Given the description of an element on the screen output the (x, y) to click on. 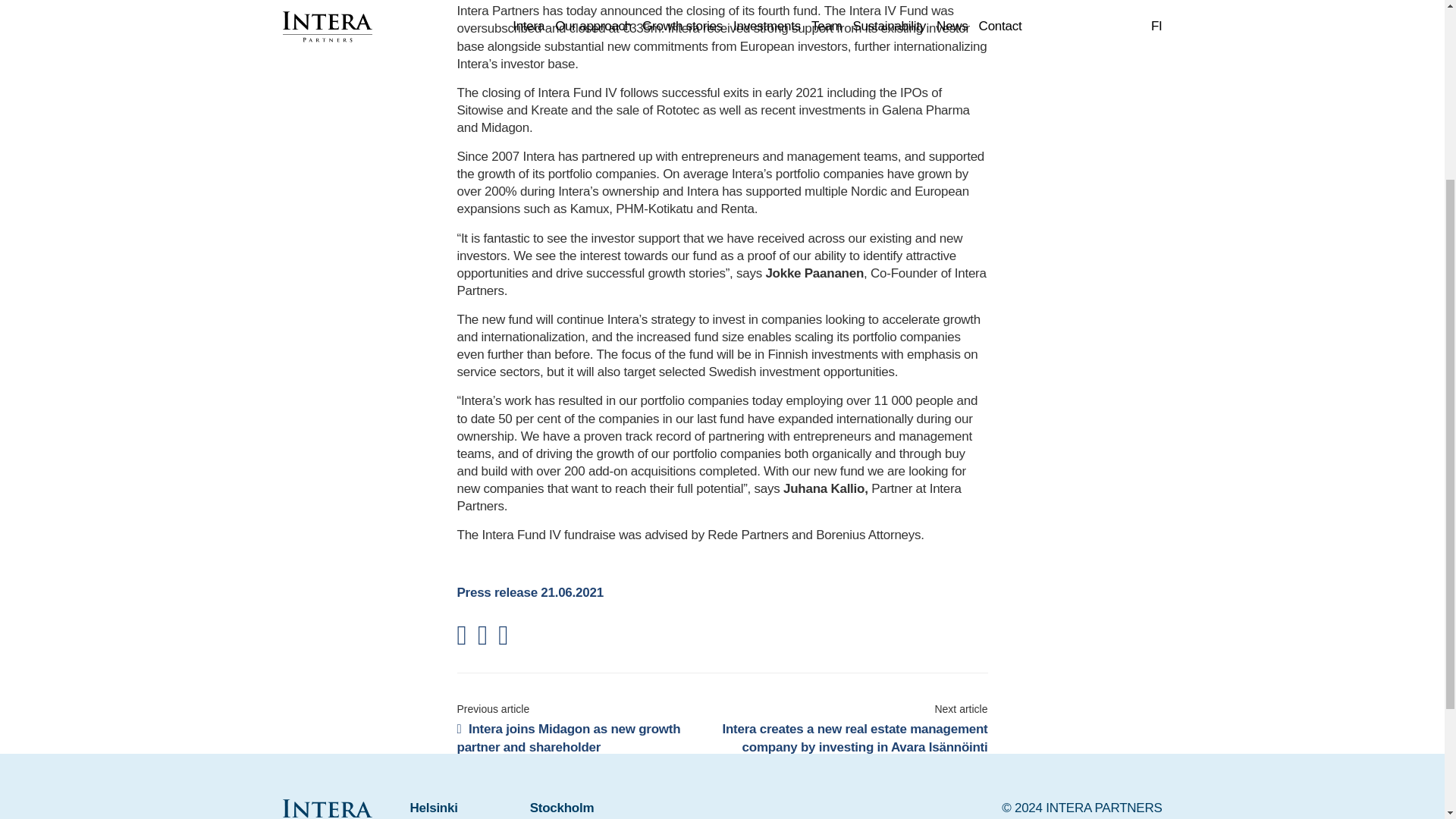
Intera joins Midagon as new growth partner and shareholder (568, 737)
Press release 21.06.2021 (529, 592)
